Given the description of an element on the screen output the (x, y) to click on. 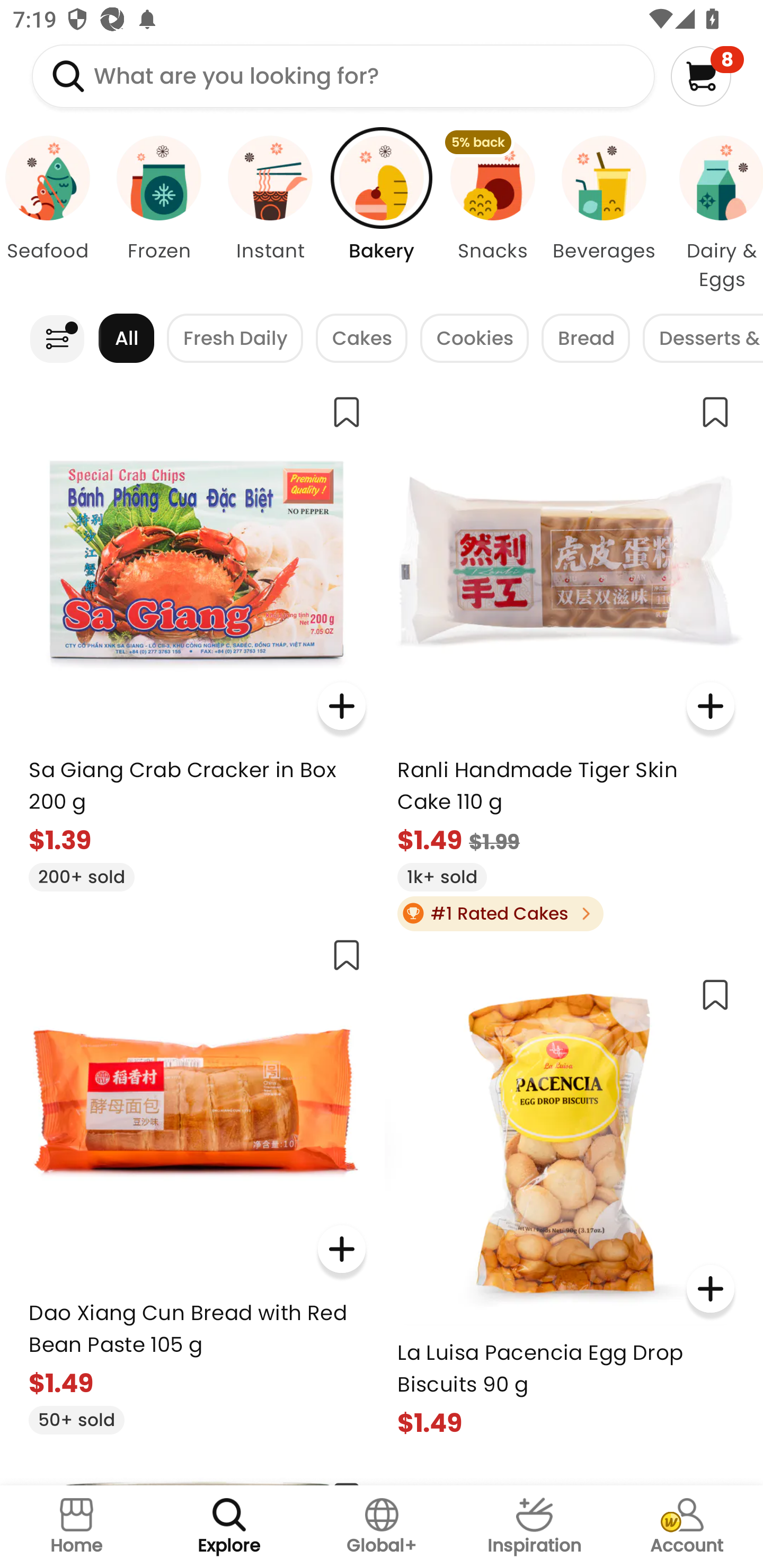
What are you looking for? (343, 75)
8 (706, 75)
Seafood (51, 214)
Frozen (158, 214)
Instant (269, 214)
Bakery (381, 214)
5% back Snacks (492, 214)
Beverages (603, 214)
Dairy & Eggs (711, 214)
All (126, 337)
Fresh Daily (234, 337)
Cakes (361, 337)
Cookies (474, 337)
Bread (585, 337)
Desserts & Pastries (702, 337)
Sa Giang Crab Cracker in Box 200 g $1.39 200+ sold (197, 636)
